Given the description of an element on the screen output the (x, y) to click on. 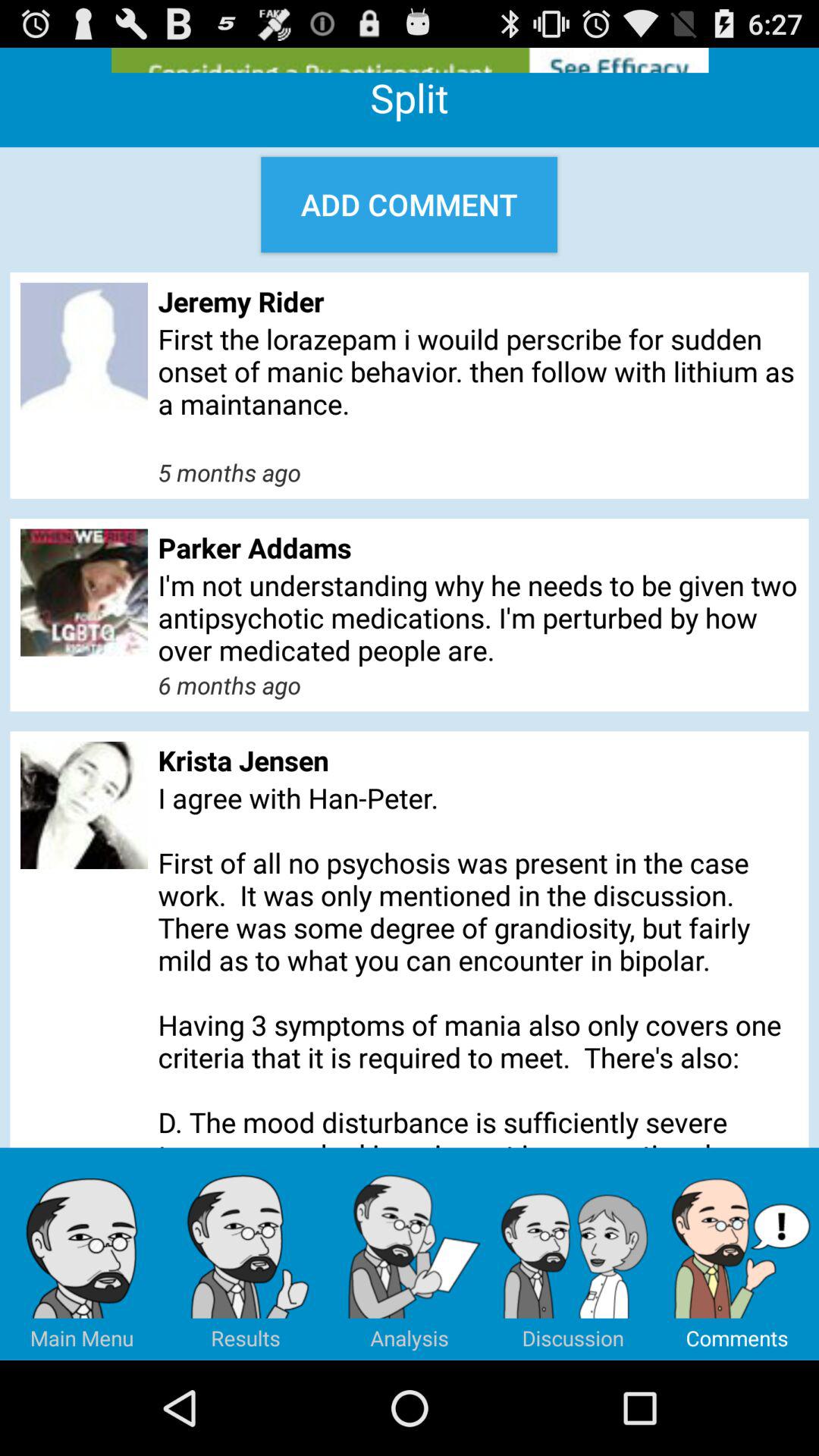
select the add comment icon (409, 204)
